Given the description of an element on the screen output the (x, y) to click on. 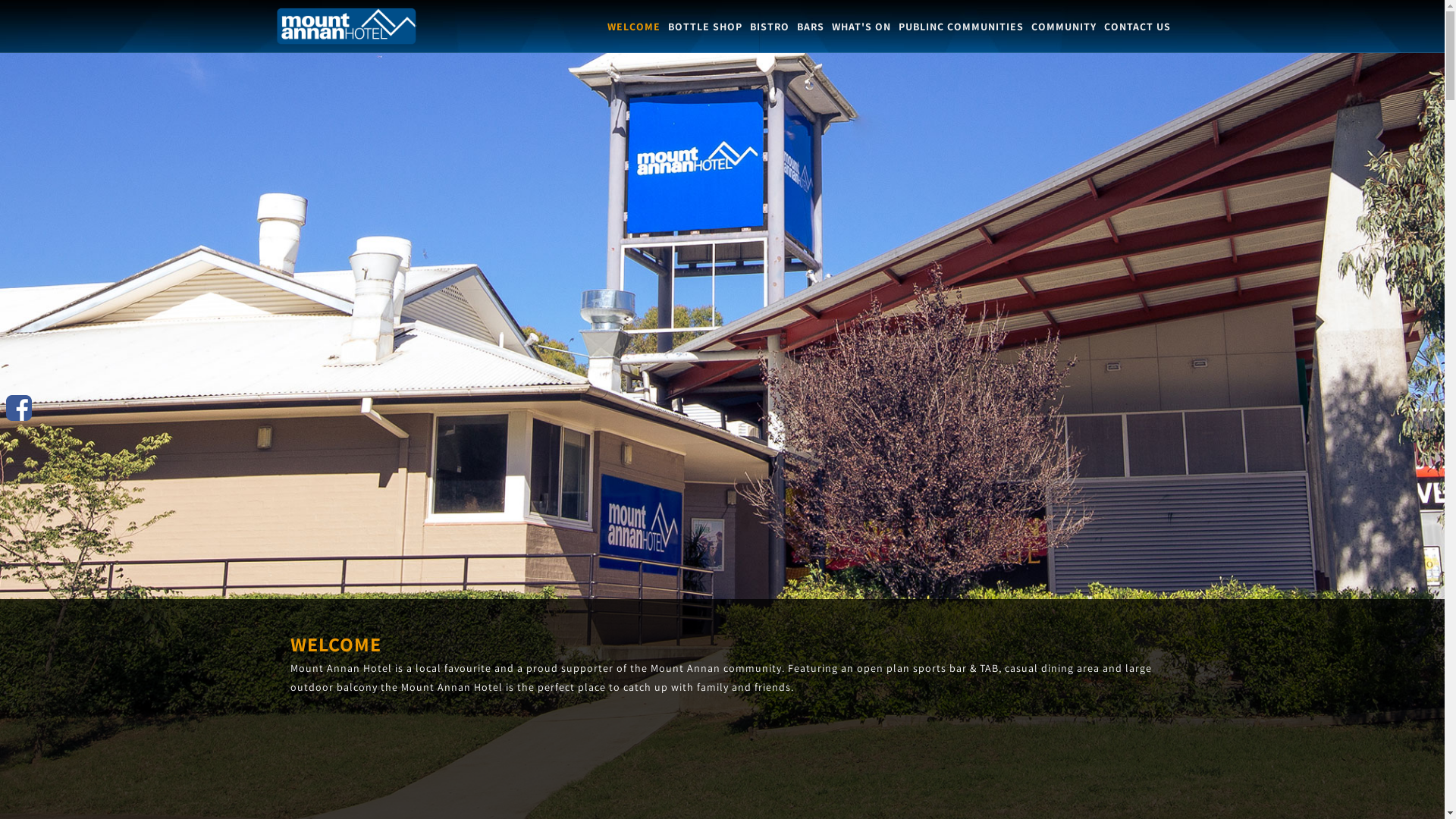
CONTACT US Element type: text (1137, 26)
BOTTLE SHOP Element type: text (704, 26)
COMMUNITY Element type: text (1063, 26)
BISTRO Element type: text (768, 26)
WELCOME Element type: text (632, 26)
PUBLINC COMMUNITIES Element type: text (960, 26)
WHAT'S ON Element type: text (860, 26)
BARS Element type: text (809, 26)
